Given the description of an element on the screen output the (x, y) to click on. 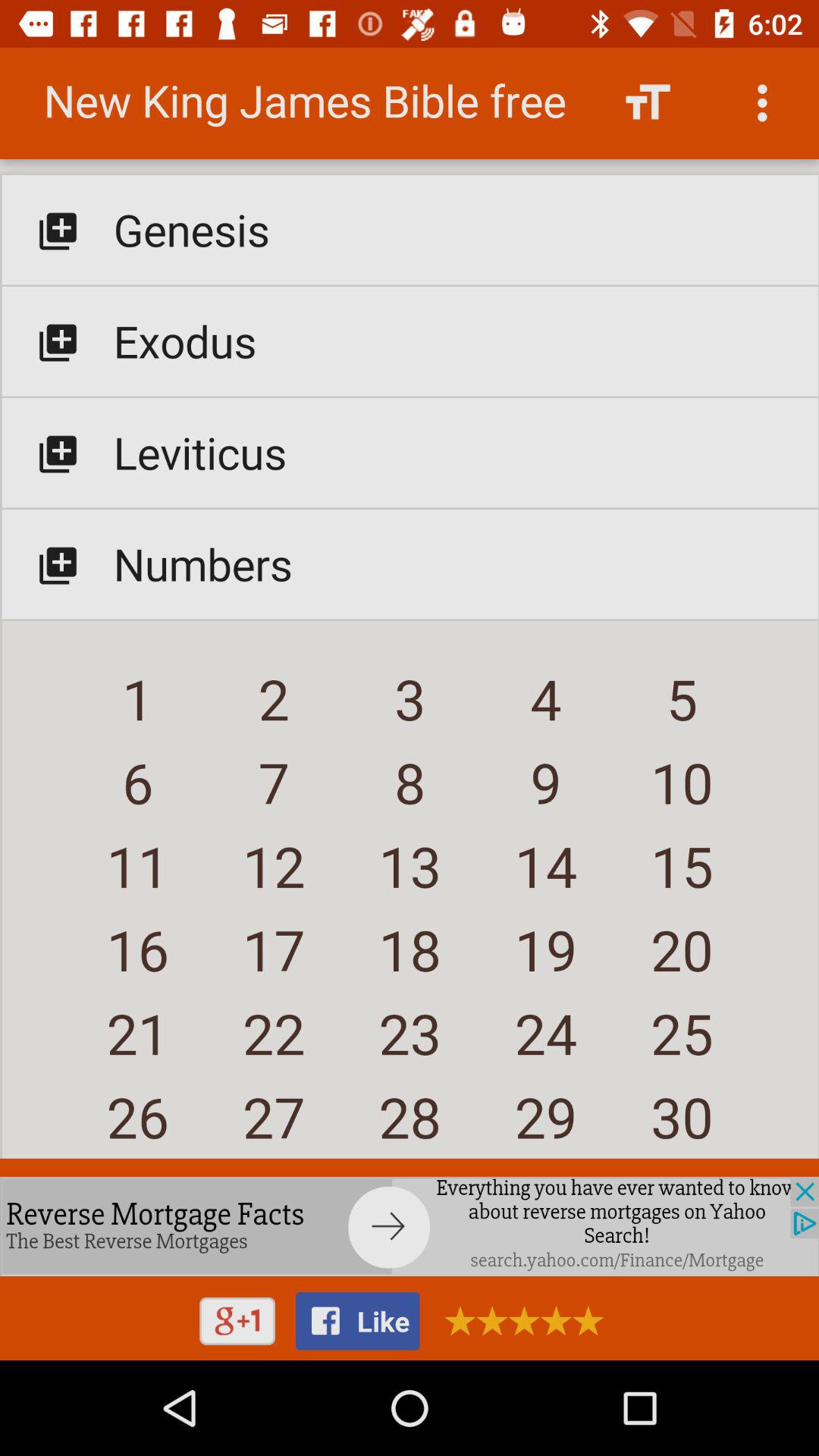
choose book and chapter (409, 609)
